Given the description of an element on the screen output the (x, y) to click on. 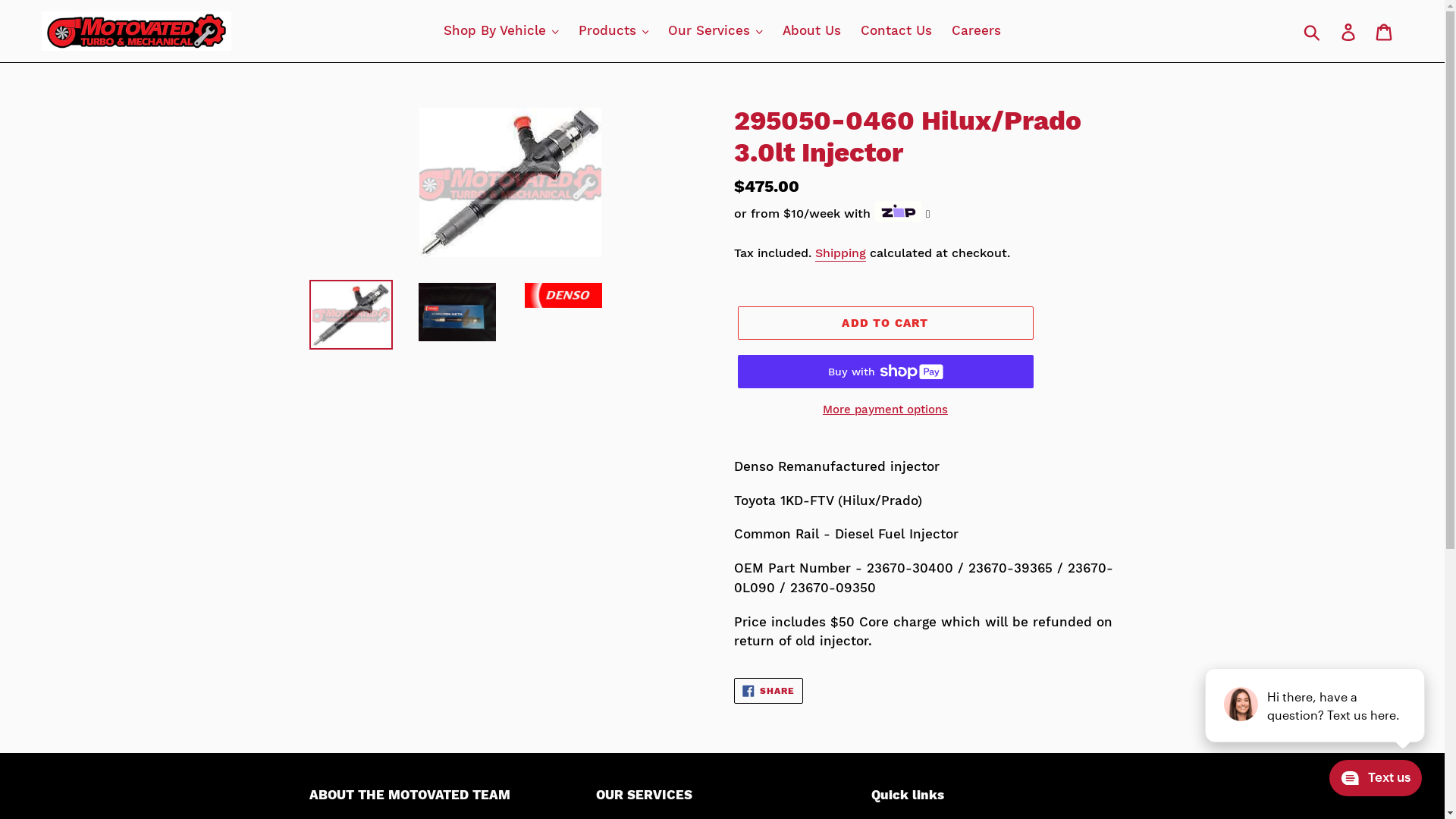
Log in Element type: text (1349, 30)
SHARE
SHARE ON FACEBOOK Element type: text (768, 690)
Shipping Element type: text (839, 253)
Careers Element type: text (976, 30)
About Us Element type: text (811, 30)
ADD TO CART Element type: text (884, 322)
Contact Us Element type: text (896, 30)
podium webchat widget prompt Element type: hover (1315, 705)
Submit Element type: text (1312, 30)
or from $10/week with Element type: text (832, 213)
More payment options Element type: text (884, 409)
Cart Element type: text (1384, 30)
